Given the description of an element on the screen output the (x, y) to click on. 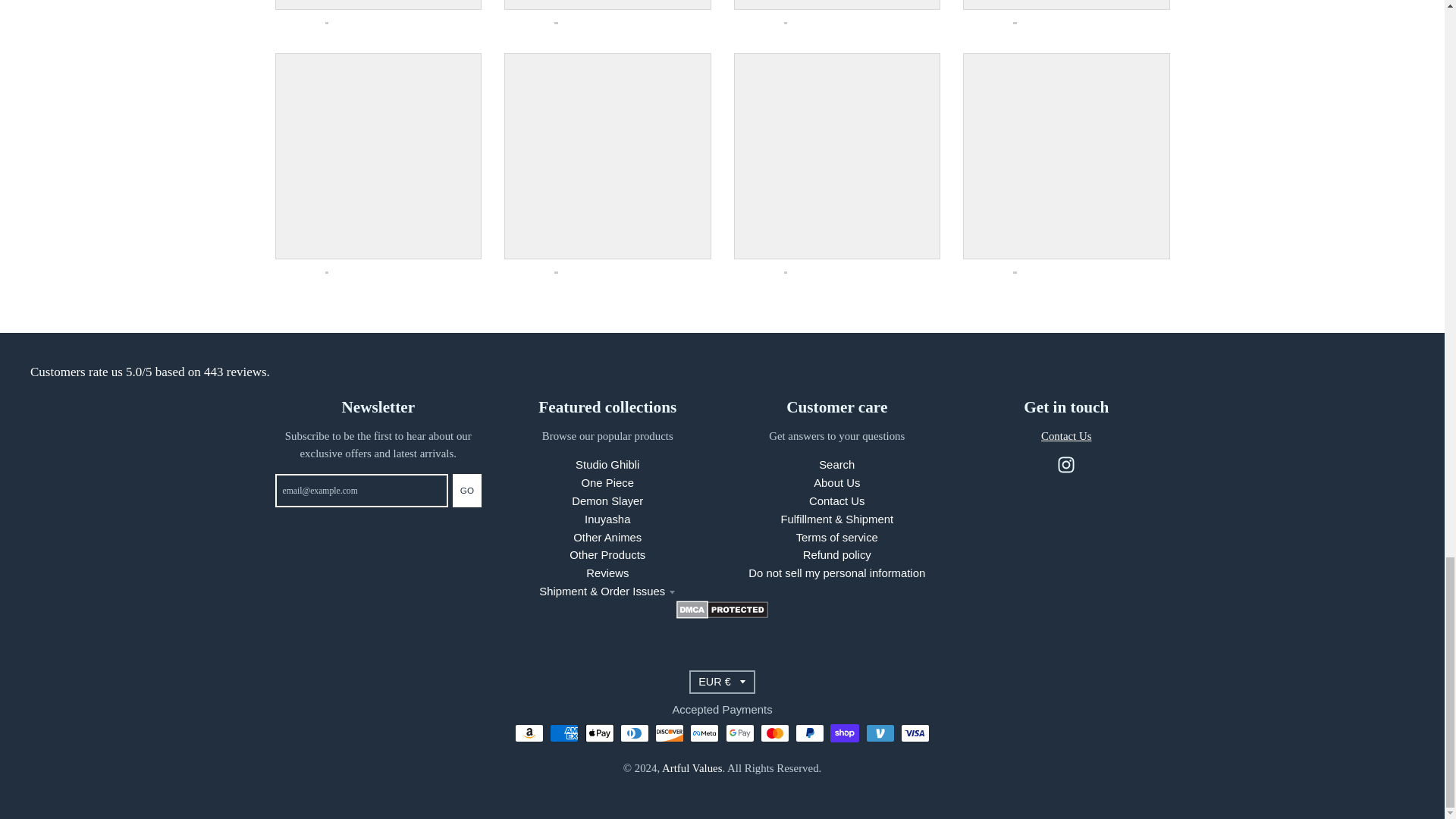
DMCA.com Protection Status (722, 614)
Instagram - Artful Values (1066, 464)
